Given the description of an element on the screen output the (x, y) to click on. 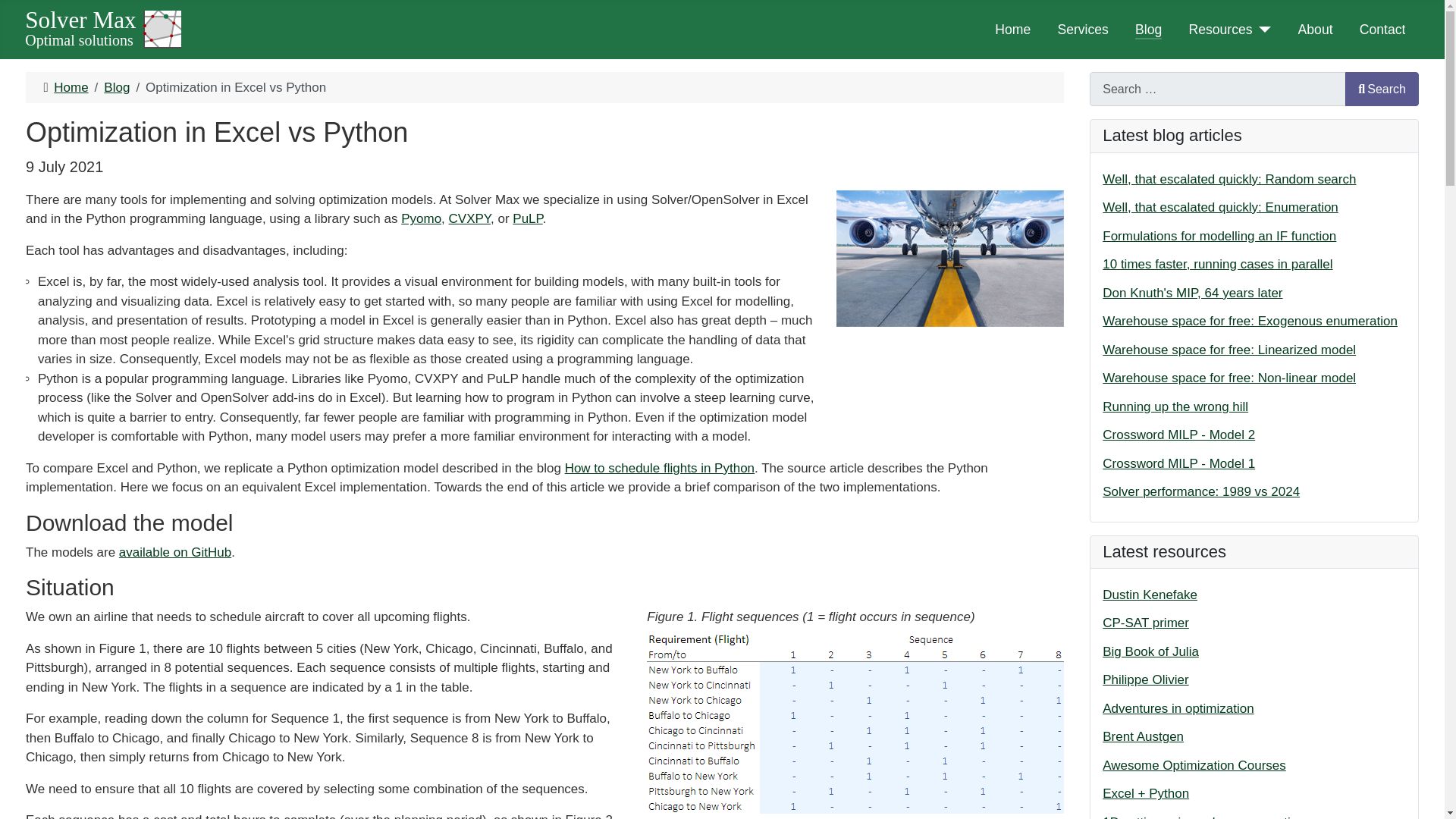
Warehouse space for free: Exogenous enumeration (1249, 320)
Blog (116, 87)
Don Knuth's MIP, 64 years later (1192, 292)
CVXPY (469, 218)
How to schedule flights in Python (659, 468)
Crossword MILP - Model 2 (1178, 434)
PuLP (526, 218)
Well, that escalated quickly: Random search (1228, 178)
Home (70, 87)
Well, that escalated quickly: Enumeration (1220, 206)
